Given the description of an element on the screen output the (x, y) to click on. 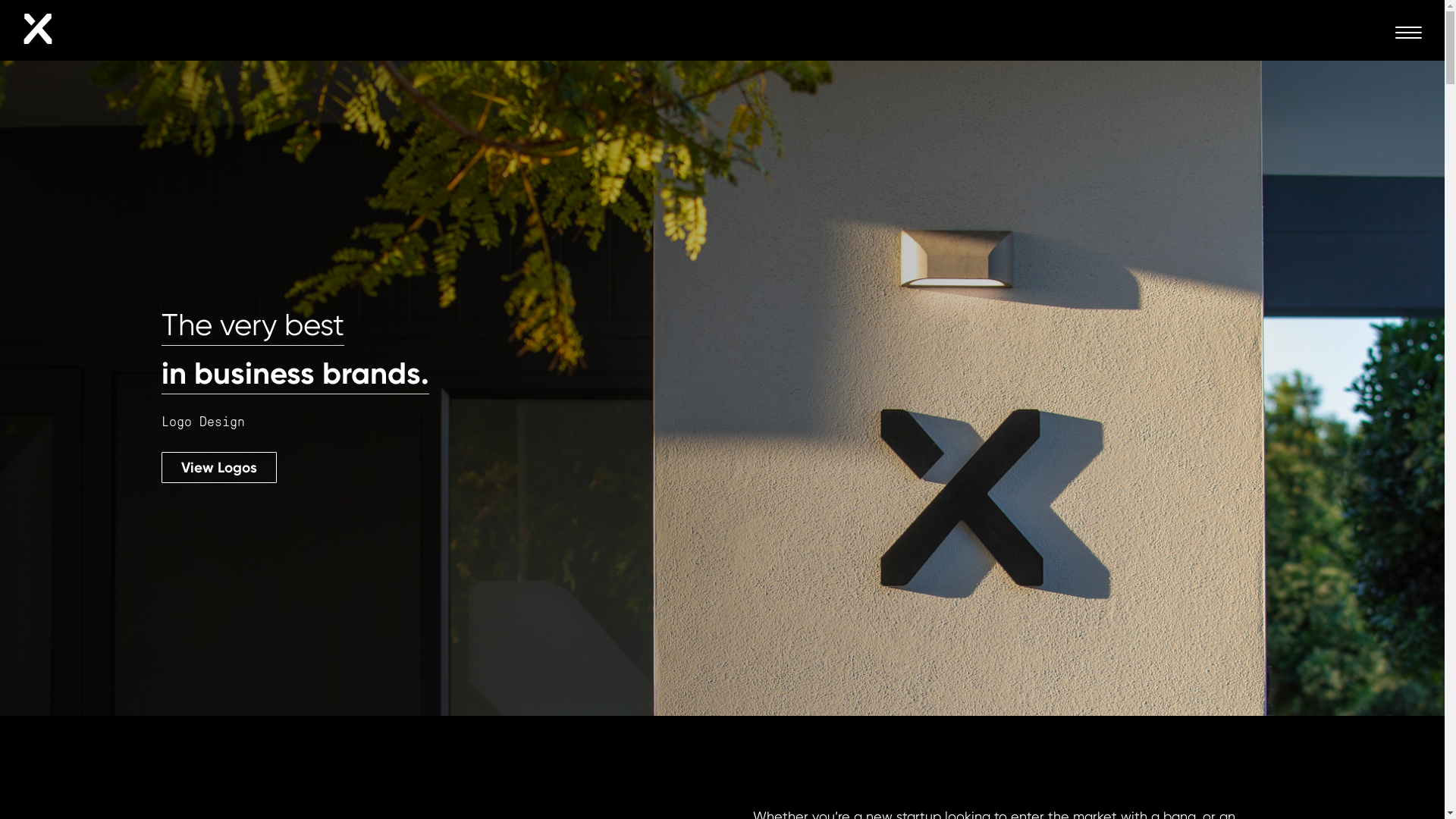
Marx Design Element type: text (37, 37)
View Logos Element type: text (218, 467)
